Given the description of an element on the screen output the (x, y) to click on. 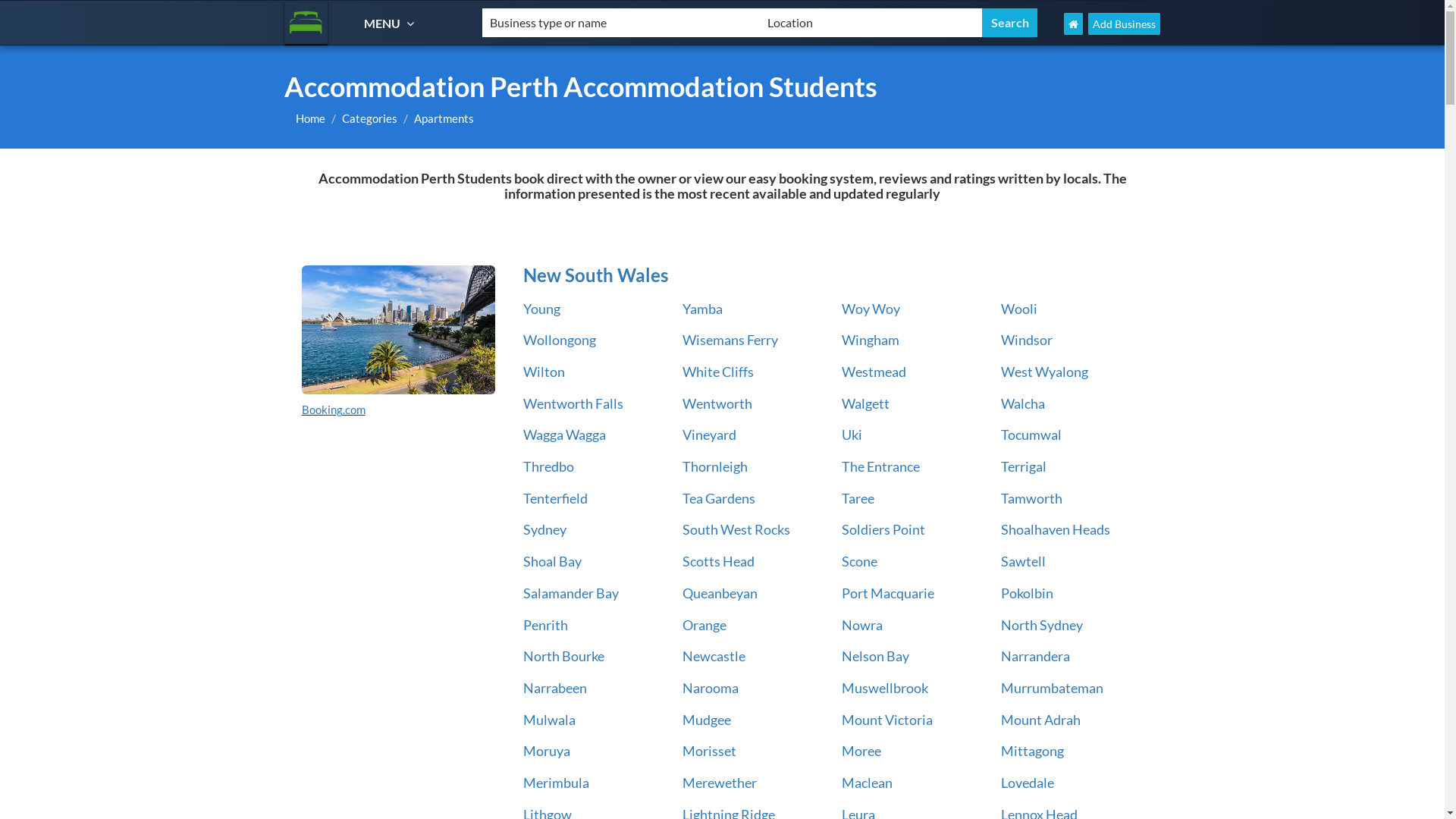
Nelson Bay Element type: text (875, 655)
Walcha Element type: text (1022, 403)
West Wyalong Element type: text (1044, 371)
Sydney Element type: text (544, 528)
Queanbeyan Element type: text (719, 592)
Newcastle Element type: text (713, 655)
Narrandera Element type: text (1035, 655)
Thornleigh Element type: text (714, 466)
Vineyard Element type: text (709, 434)
Soldiers Point Element type: text (883, 528)
Scotts Head Element type: text (718, 560)
Wisemans Ferry Element type: text (730, 339)
Booking.com Element type: text (333, 409)
Tenterfield Element type: text (555, 497)
Mount Adrah Element type: text (1040, 719)
Accommodation Perth Home Page Element type: hover (1072, 23)
Windsor Element type: text (1026, 339)
Add Business Element type: text (1124, 23)
Wilton Element type: text (543, 371)
Wingham Element type: text (870, 339)
Mittagong Element type: text (1032, 750)
Uki Element type: text (851, 434)
Mulwala Element type: text (549, 719)
Wentworth Element type: text (717, 403)
Wooli Element type: text (1019, 308)
Thredbo Element type: text (548, 466)
Narrabeen Element type: text (554, 687)
Muswellbrook Element type: text (884, 687)
Categories Element type: text (369, 118)
Terrigal Element type: text (1023, 466)
Nowra Element type: text (861, 624)
MENU Element type: text (390, 22)
New South Wales Element type: text (830, 275)
Scone Element type: text (859, 560)
Moruya Element type: text (546, 750)
Wollongong Element type: text (559, 339)
White Cliffs Element type: text (717, 371)
Merewether Element type: text (719, 782)
Apartments Element type: text (443, 118)
North Bourke Element type: text (563, 655)
South West Rocks Element type: text (736, 528)
Lovedale Element type: text (1027, 782)
Pokolbin Element type: text (1027, 592)
Murrumbateman Element type: text (1052, 687)
Tamworth Element type: text (1031, 497)
Wentworth Falls Element type: text (573, 403)
Home Element type: text (310, 118)
Wagga Wagga Element type: text (564, 434)
Morisset Element type: text (709, 750)
Young Element type: text (541, 308)
Westmead Element type: text (873, 371)
Woy Woy Element type: text (870, 308)
Accommodation Perth Element type: hover (305, 21)
North Sydney Element type: text (1041, 624)
Port Macquarie Element type: text (887, 592)
Moree Element type: text (861, 750)
Penrith Element type: text (545, 624)
Salamander Bay Element type: text (570, 592)
Mudgee Element type: text (706, 719)
Tea Gardens Element type: text (718, 497)
The Entrance Element type: text (880, 466)
Orange Element type: text (704, 624)
Search Element type: text (1009, 22)
Tocumwal Element type: text (1031, 434)
Walgett Element type: text (865, 403)
Narooma Element type: text (710, 687)
Sawtell Element type: text (1023, 560)
Merimbula Element type: text (556, 782)
Yamba Element type: text (702, 308)
Taree Element type: text (857, 497)
New South Wales Element type: hover (398, 329)
Maclean Element type: text (866, 782)
Shoalhaven Heads Element type: text (1055, 528)
Mount Victoria Element type: text (886, 719)
Shoal Bay Element type: text (552, 560)
